Given the description of an element on the screen output the (x, y) to click on. 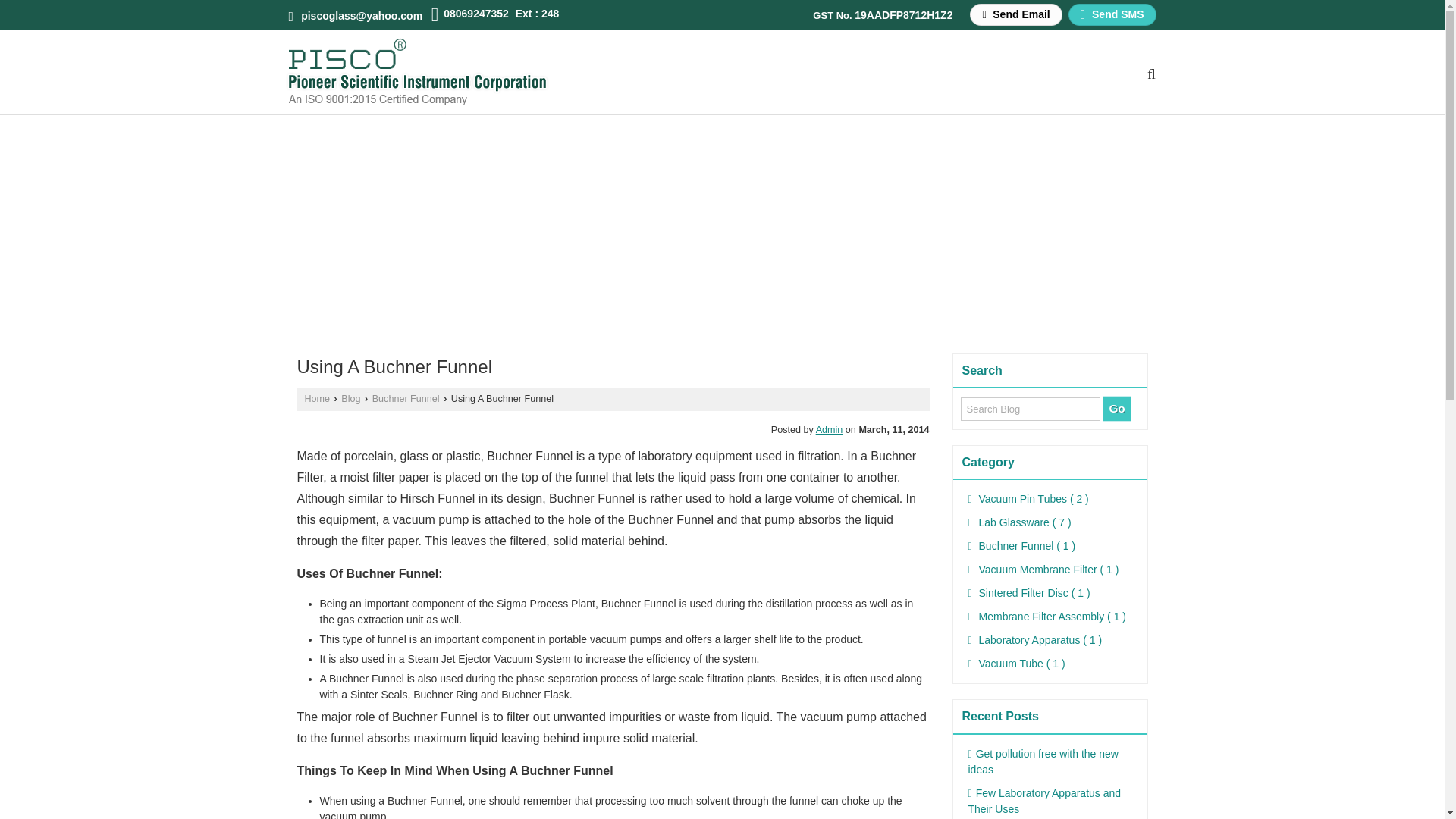
Buchner Funnel (405, 398)
Go (1116, 408)
Pioneer Scientific Instrument Corporation (416, 71)
Go (1116, 408)
Home (317, 398)
Send Email (1015, 14)
Admin (829, 429)
Home (317, 398)
Home (349, 398)
Blog (349, 398)
